Given the description of an element on the screen output the (x, y) to click on. 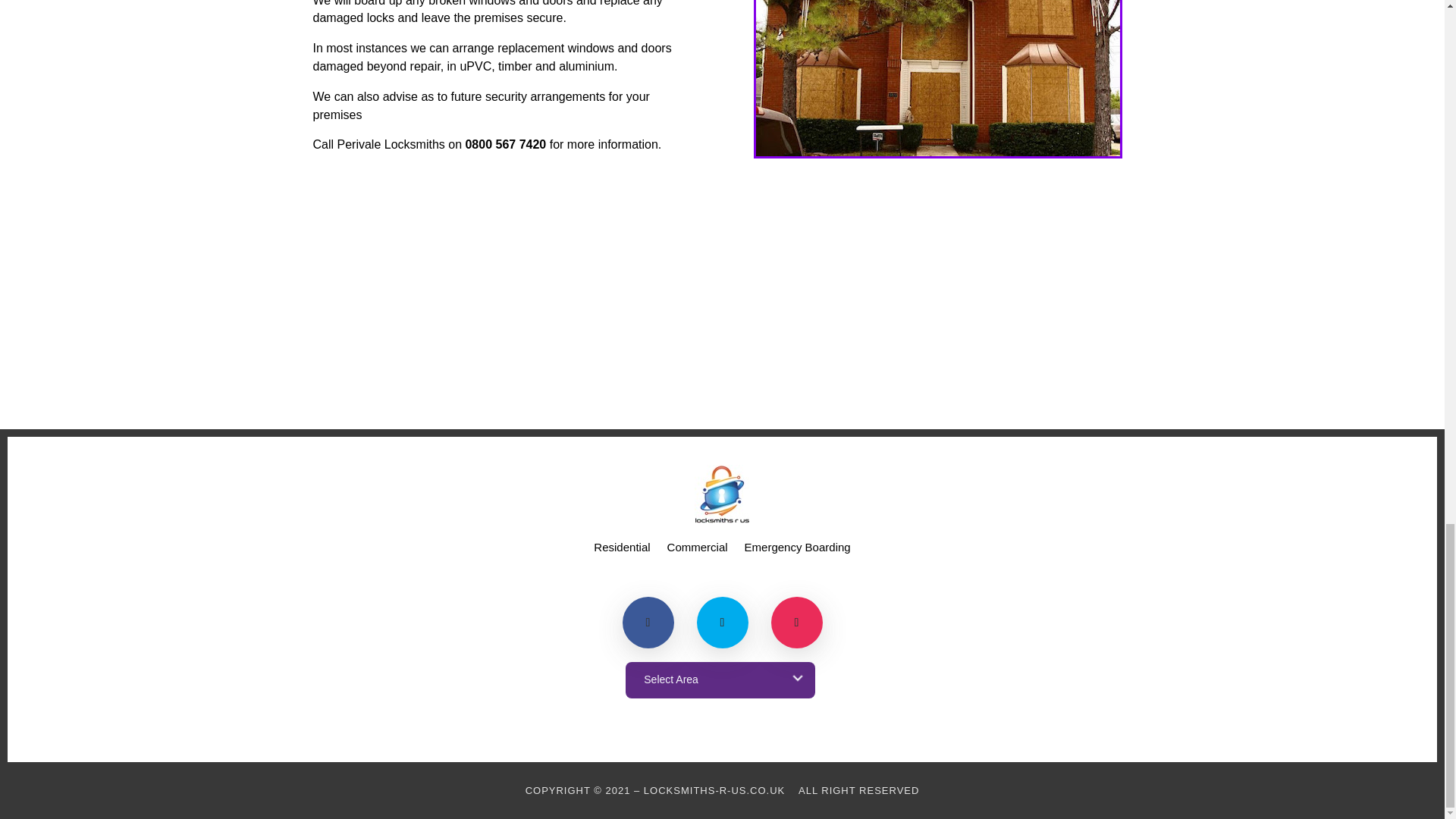
Follow on Facebook (646, 622)
Perivale Locksmiths Emergency Boarding UP (937, 78)
Follow on Twitter (721, 622)
Residential (621, 550)
Follow on Instagram (796, 622)
Commercial (697, 550)
